Given the description of an element on the screen output the (x, y) to click on. 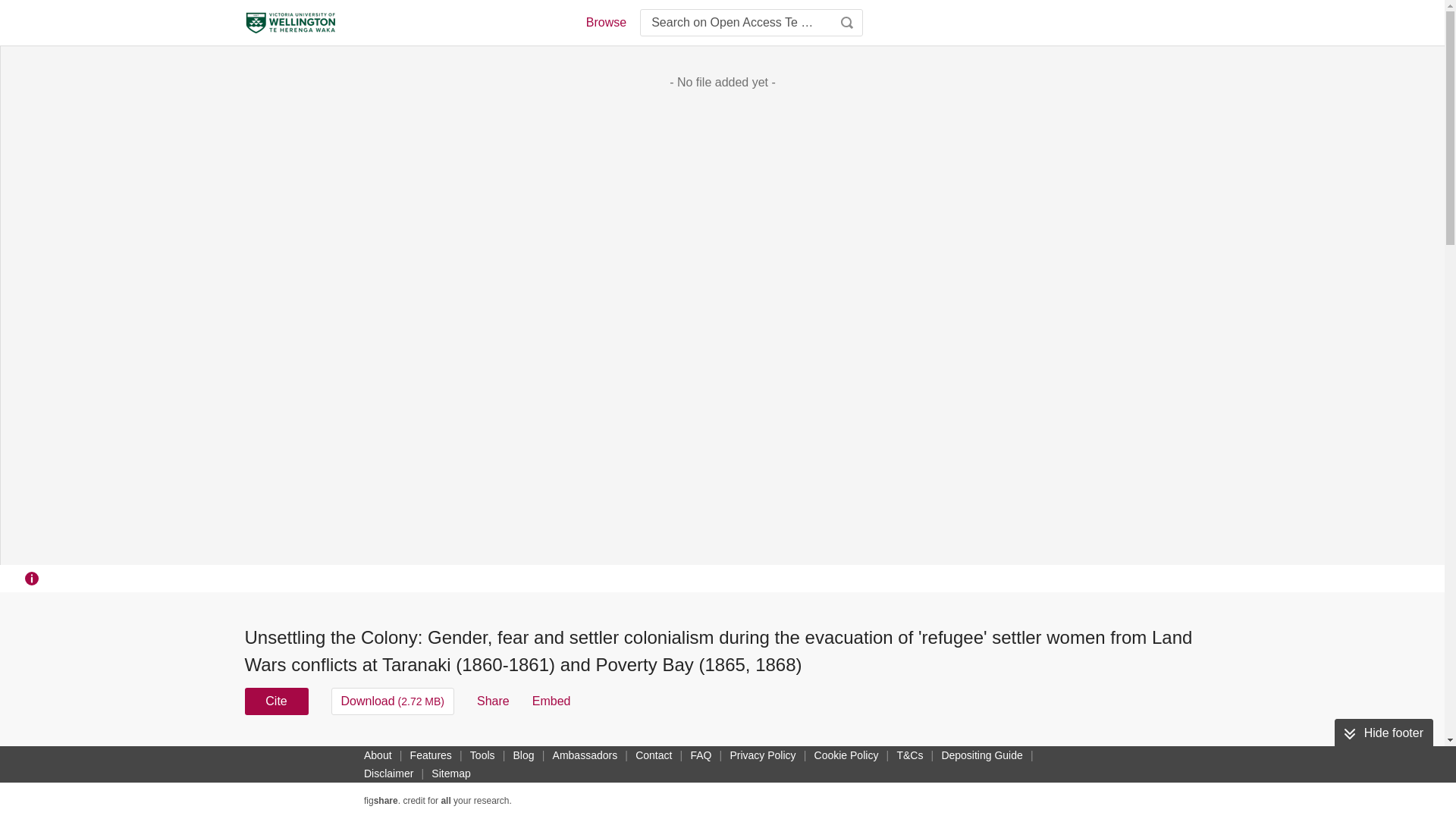
Embed (551, 700)
Tools (482, 755)
Cite (275, 700)
Share (493, 700)
About (377, 755)
Features (431, 755)
Browse (605, 22)
Hide footer (1383, 733)
USAGE METRICS (976, 755)
